Given the description of an element on the screen output the (x, y) to click on. 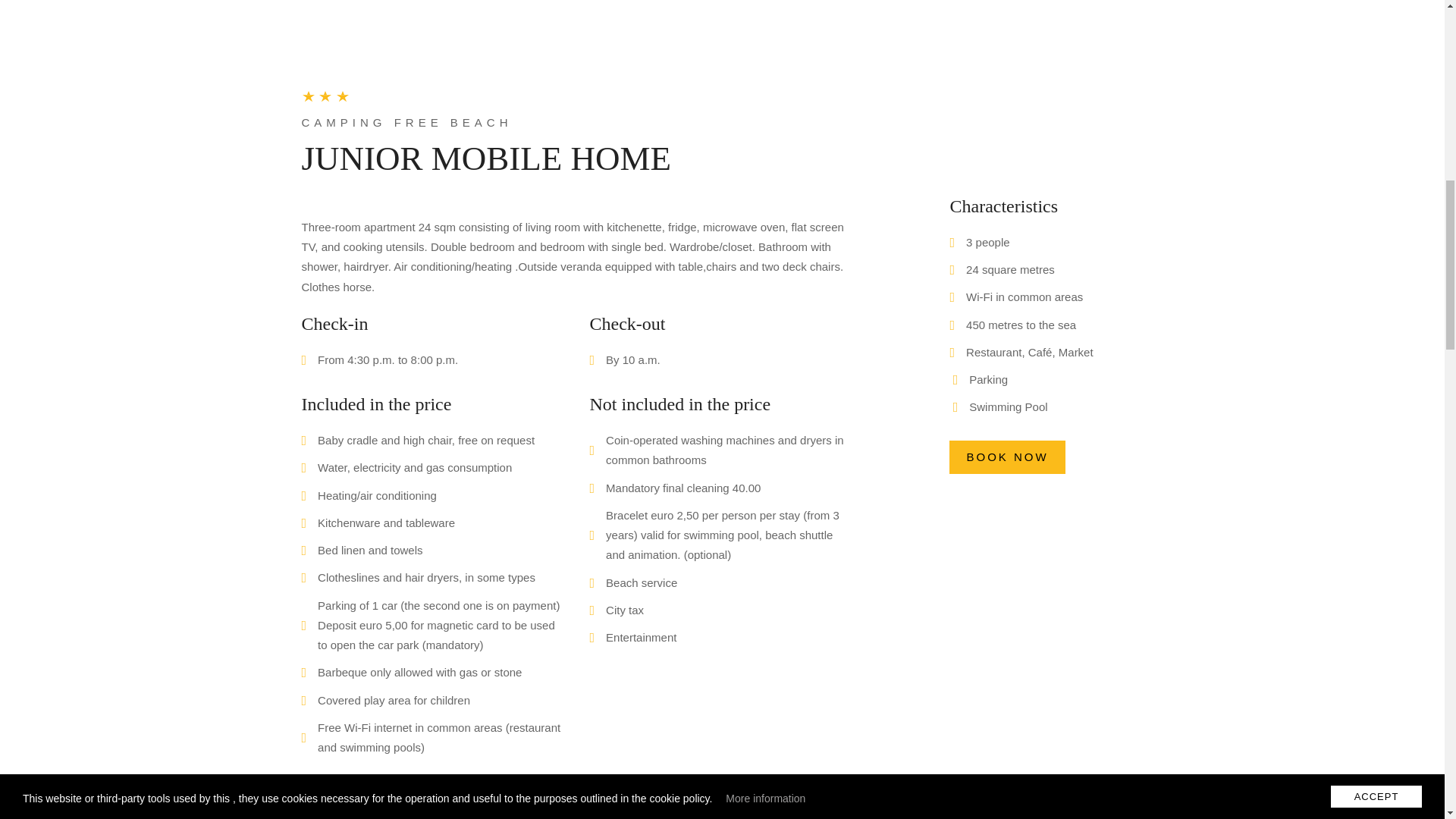
BOOK NOW (1006, 456)
